Given the description of an element on the screen output the (x, y) to click on. 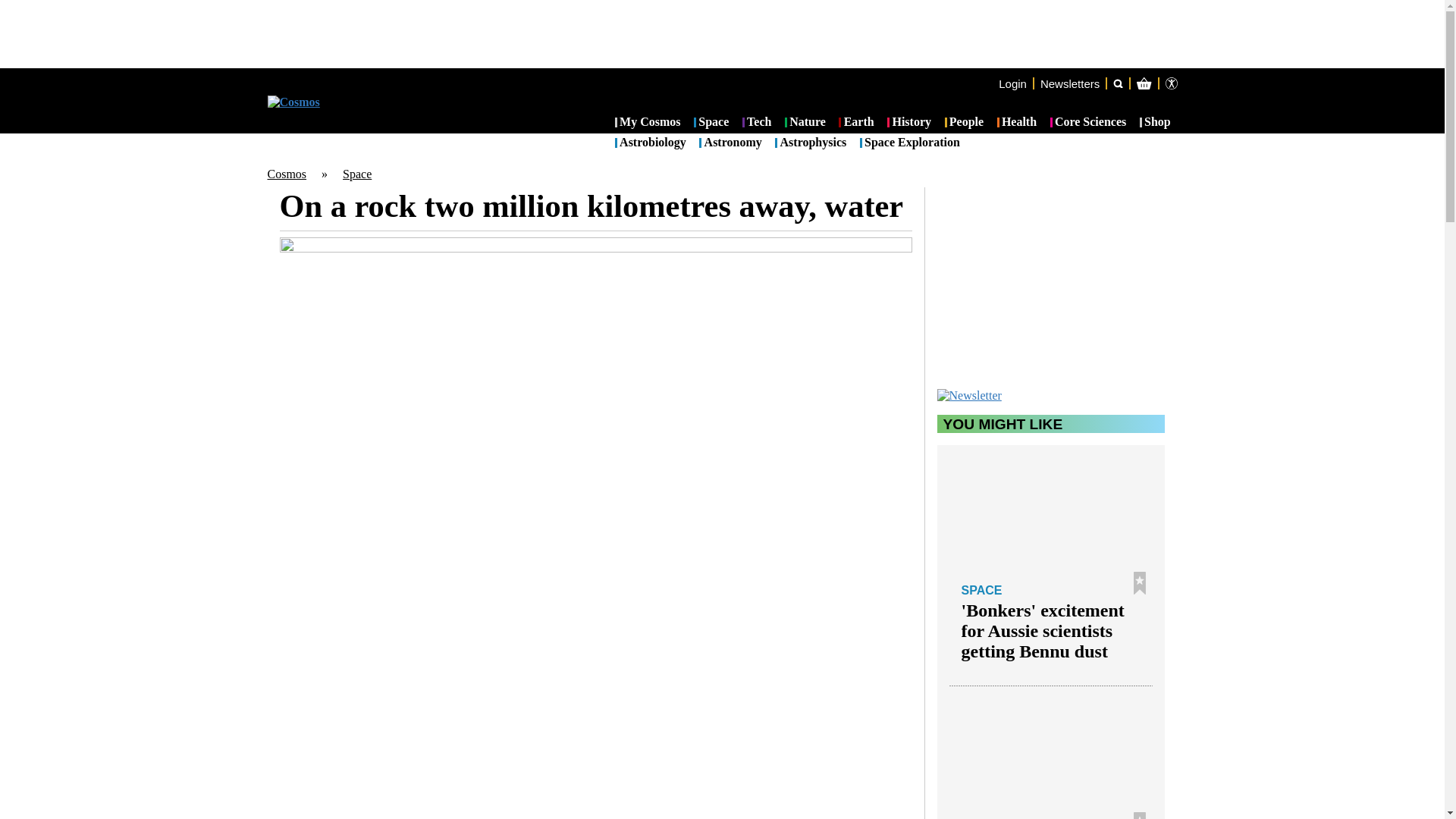
Space Exploration (909, 143)
Cart (1227, 144)
Earth (855, 122)
Astrophysics (809, 143)
Nature (804, 122)
Shop (1155, 122)
My Cosmos (647, 122)
Login (1012, 82)
Space (356, 173)
History (908, 122)
